Given the description of an element on the screen output the (x, y) to click on. 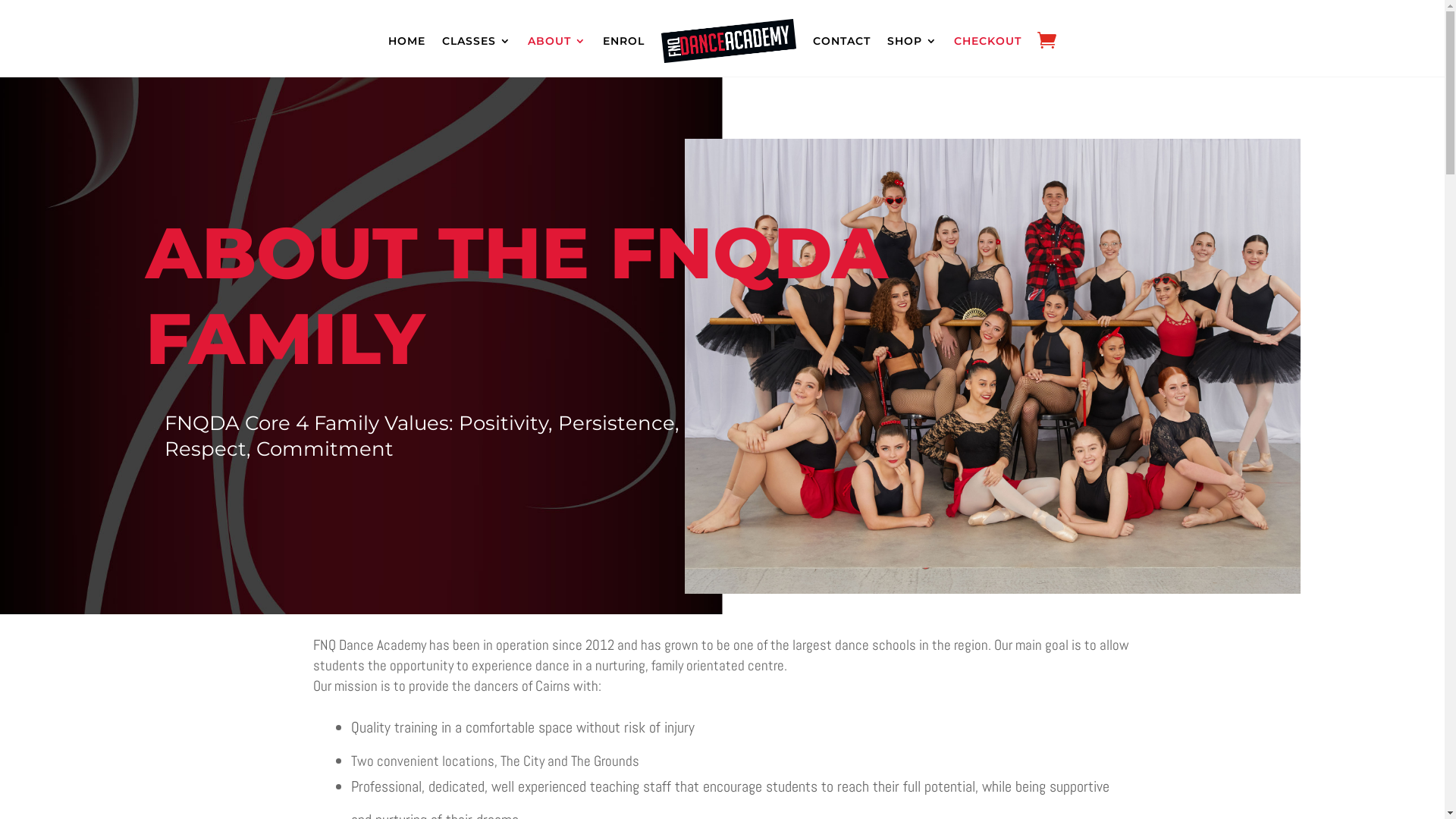
SHOP Element type: text (912, 40)
ABOUT Element type: text (556, 40)
CLASSES Element type: text (475, 40)
CHECKOUT Element type: text (987, 40)
ENROL Element type: text (622, 40)
HOME Element type: text (406, 40)
CONTACT Element type: text (841, 40)
